Given the description of an element on the screen output the (x, y) to click on. 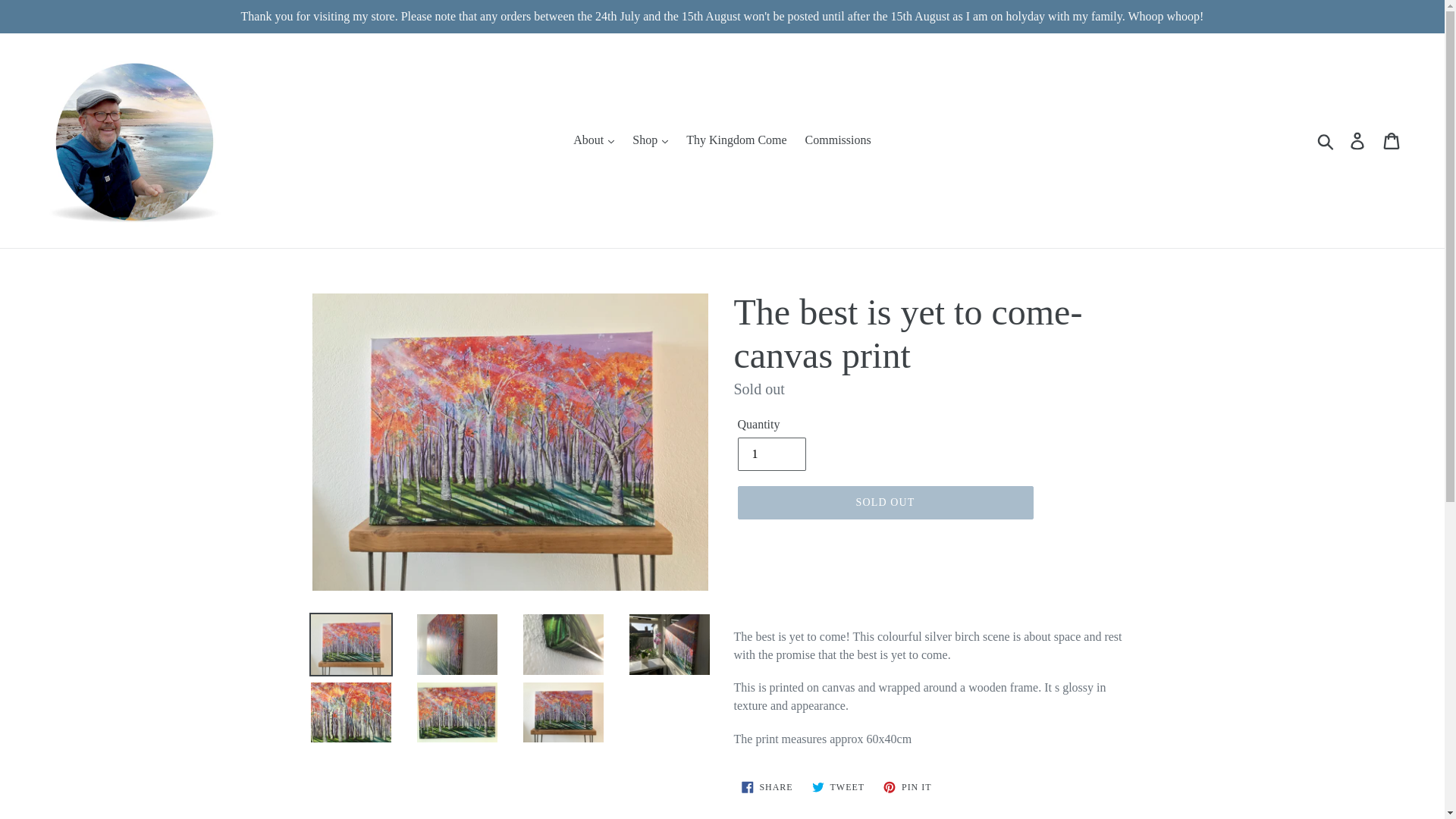
Thy Kingdom Come (735, 139)
Submit (1326, 140)
Cart (1392, 140)
Log in (1357, 140)
1 (770, 453)
Commissions (838, 139)
